Given the description of an element on the screen output the (x, y) to click on. 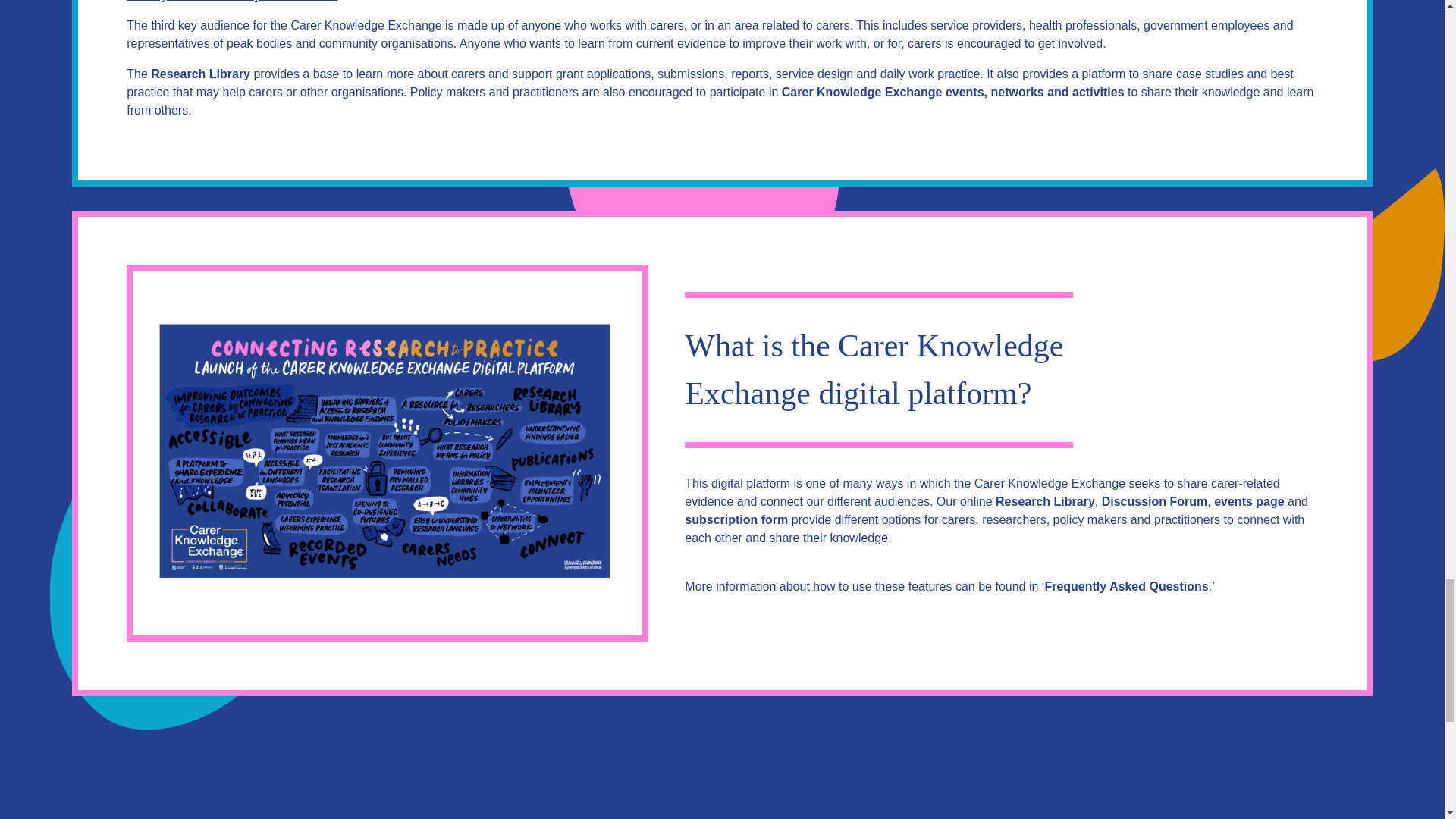
Get involved (952, 92)
Research library (200, 74)
Sign up (735, 520)
Frequently asked questions (1125, 587)
Get involved (1249, 502)
Research library (1044, 502)
